Given the description of an element on the screen output the (x, y) to click on. 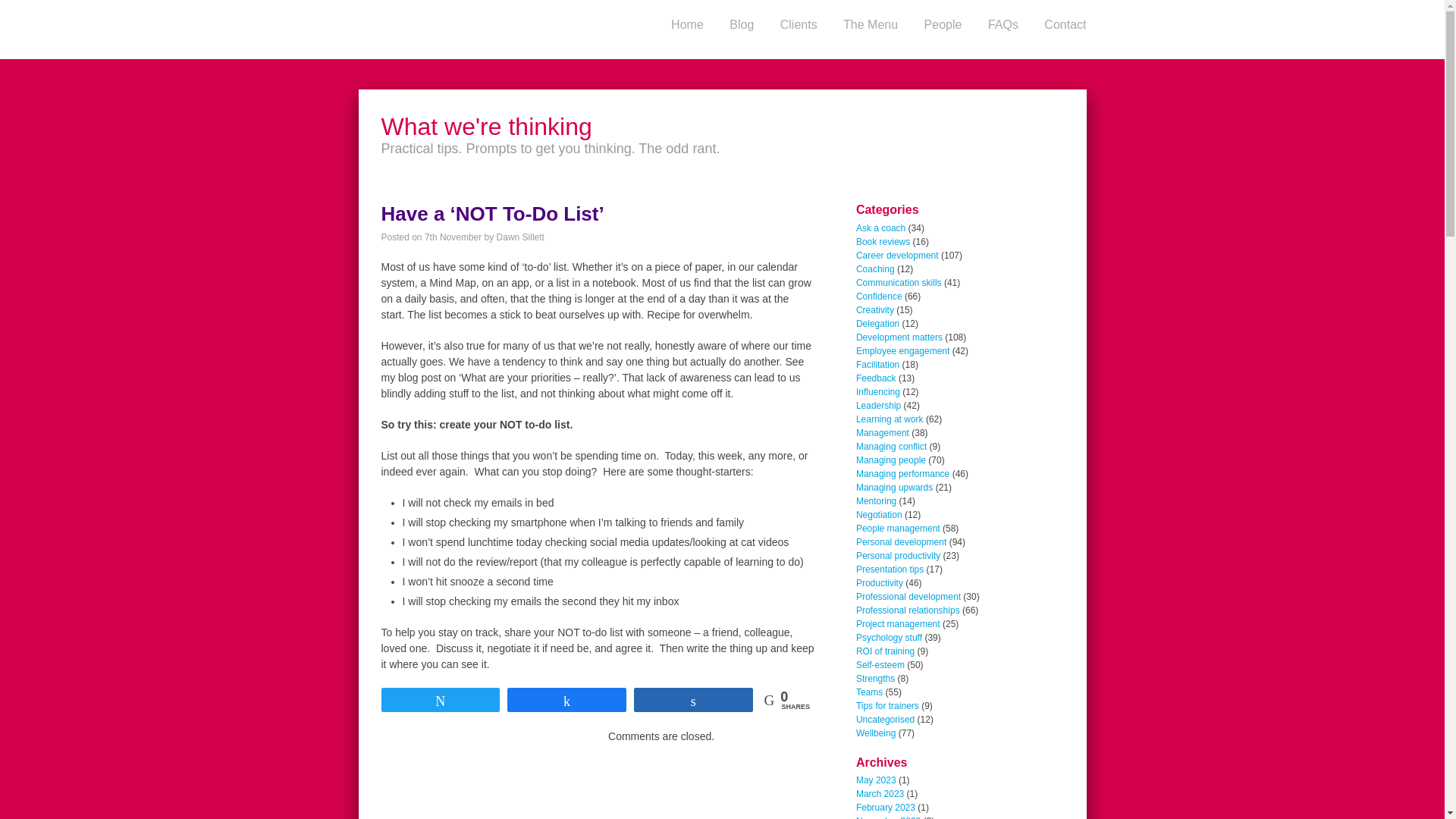
Management (882, 432)
Clients (798, 25)
Zoomly (411, 29)
Ask a coach (880, 227)
Professional relationships (907, 610)
The Menu (869, 25)
Communication skills (899, 282)
Leadership (878, 405)
Personal productivity (898, 555)
Development matters (899, 337)
